Given the description of an element on the screen output the (x, y) to click on. 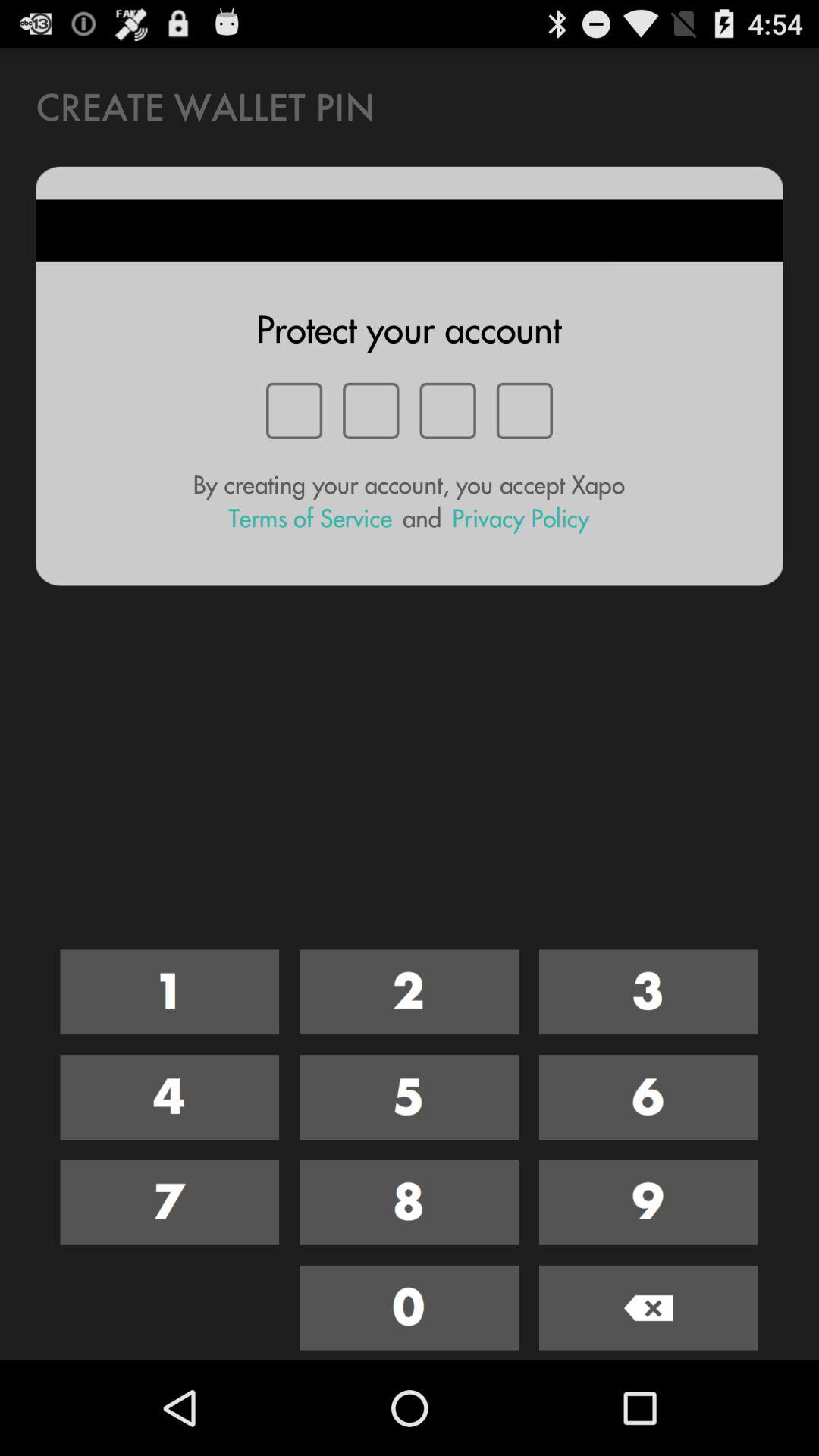
enter number 1 (169, 991)
